Given the description of an element on the screen output the (x, y) to click on. 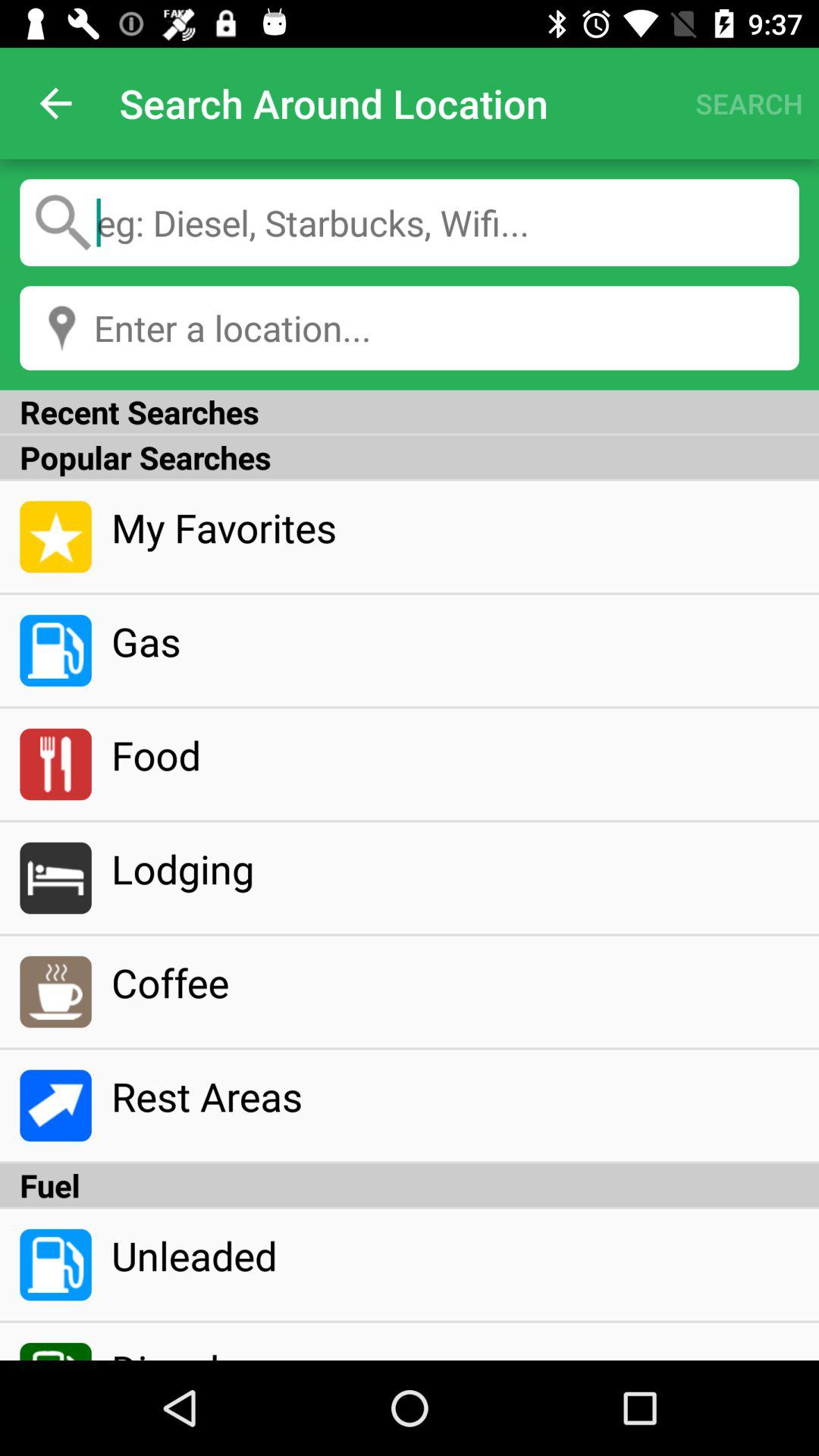
swipe until the unleaded (455, 1255)
